Given the description of an element on the screen output the (x, y) to click on. 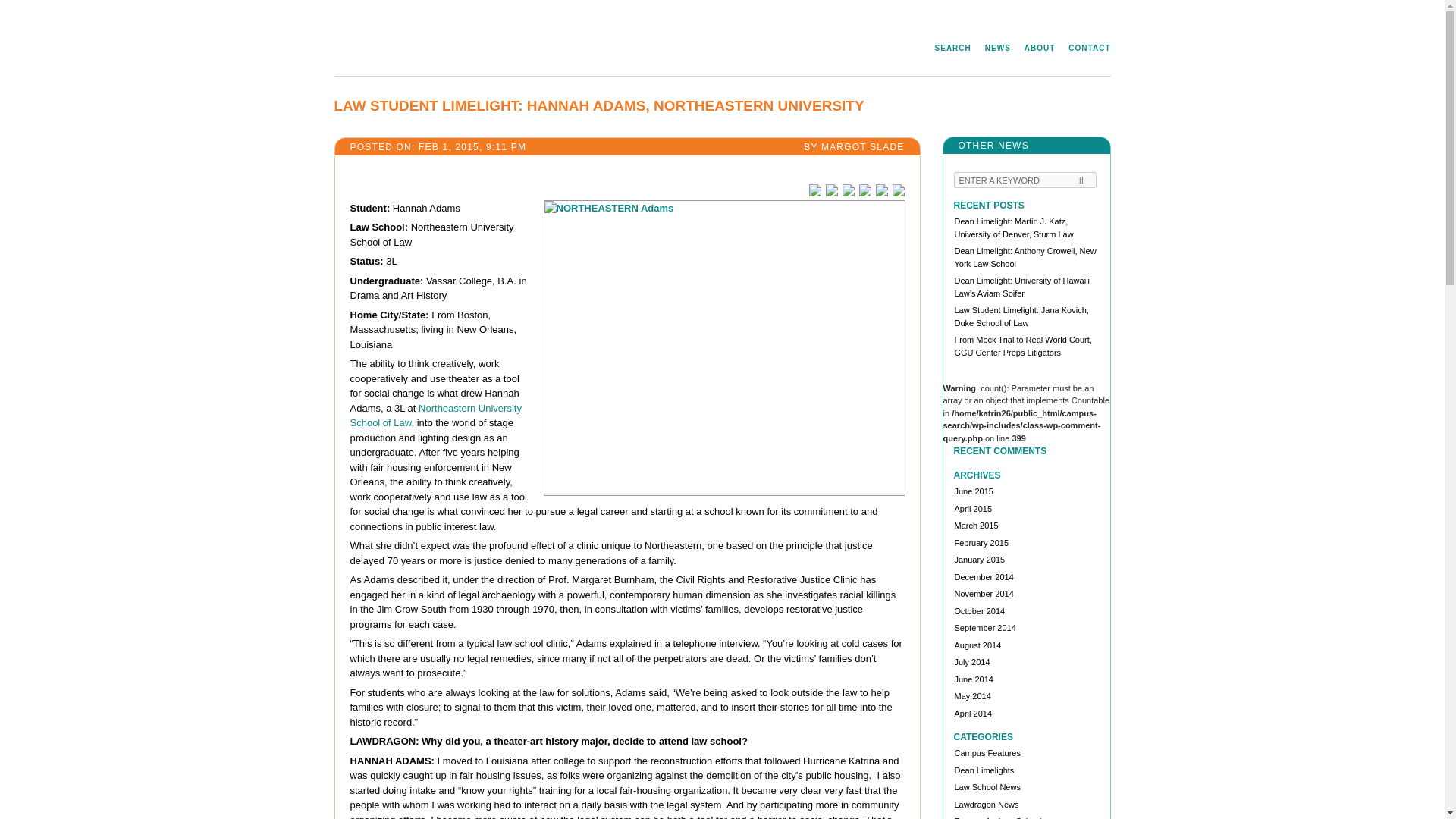
Dean Limelight: Anthony Crowell, New York Law School (1024, 257)
NEWS (990, 48)
FEB 1, 2015, 9:11 PM (475, 145)
July 2014 (971, 661)
Enter a keyword (1024, 179)
CONTACT (1081, 48)
August 2014 (977, 644)
lsat and gpa search (946, 48)
Skip to content (720, 48)
9:11 pm (475, 145)
Share on Twitter (831, 189)
Share on Facebook (814, 189)
September 2014 (983, 627)
December 2014 (983, 575)
